Given the description of an element on the screen output the (x, y) to click on. 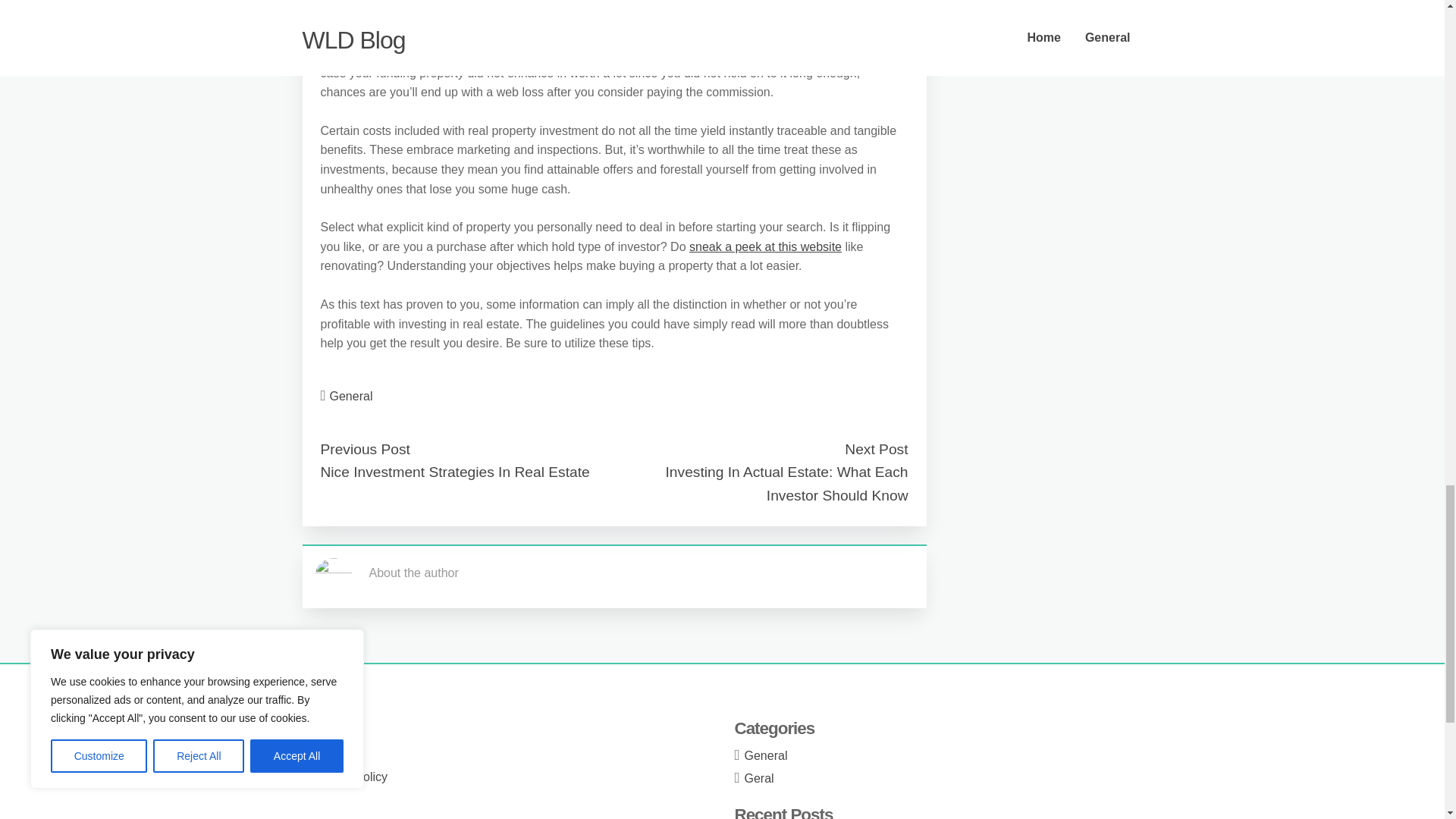
About (328, 730)
Nice Investment Strategies In Real Estate (454, 471)
Geral (759, 778)
sneak a peek at this website (764, 246)
General (351, 395)
Contact (333, 753)
Privacy Policy (350, 776)
Next Post (875, 449)
Previous Post (364, 449)
Investing In Actual Estate: What Each Investor Should Know (786, 483)
